Given the description of an element on the screen output the (x, y) to click on. 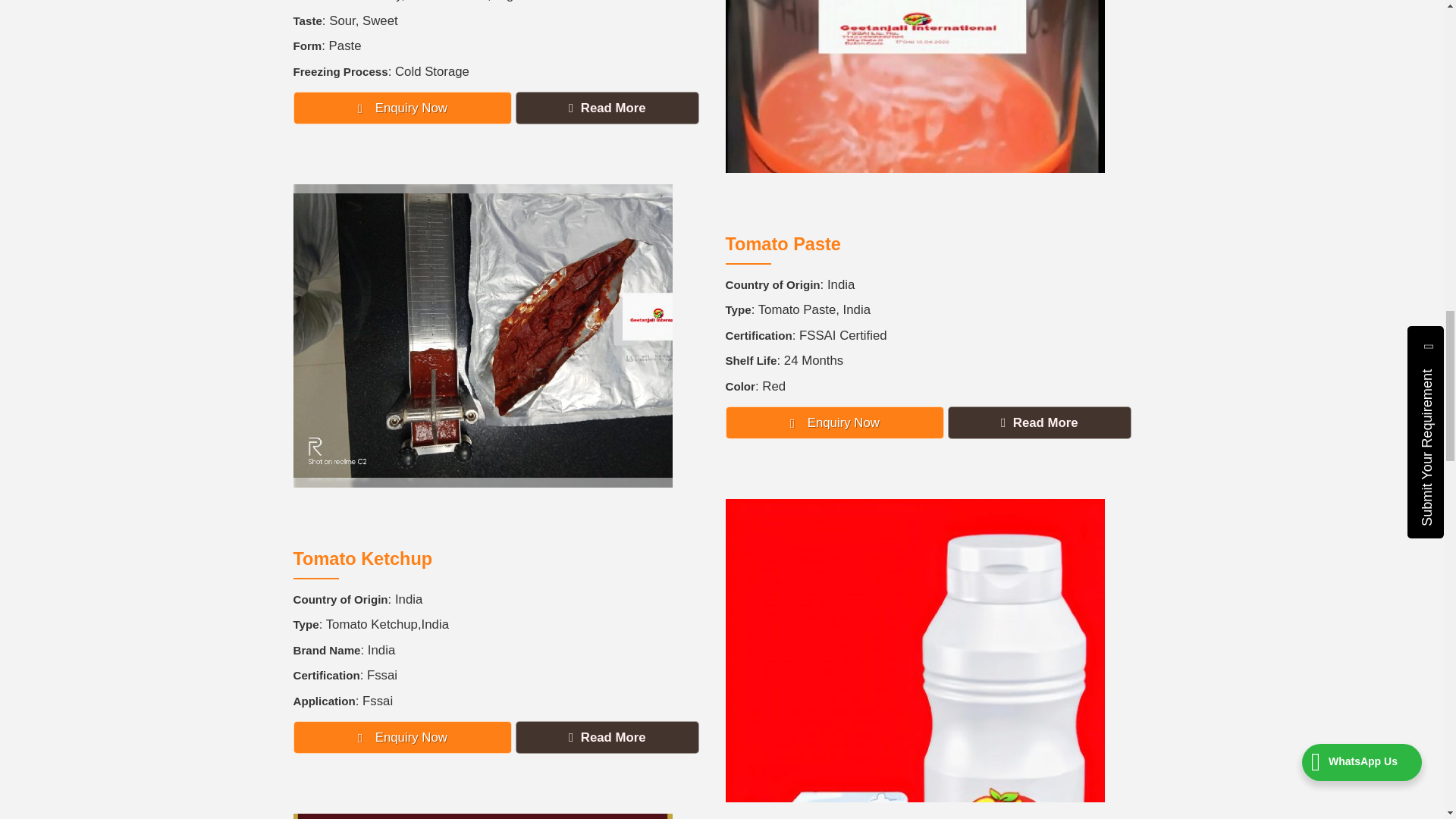
Read More (1039, 422)
Tomato Ketchup (362, 558)
Enquiry Now (402, 737)
Read More (606, 107)
Read More (606, 737)
Enquiry Now (402, 107)
Tomato Paste (782, 243)
Enquiry Now (834, 422)
